Given the description of an element on the screen output the (x, y) to click on. 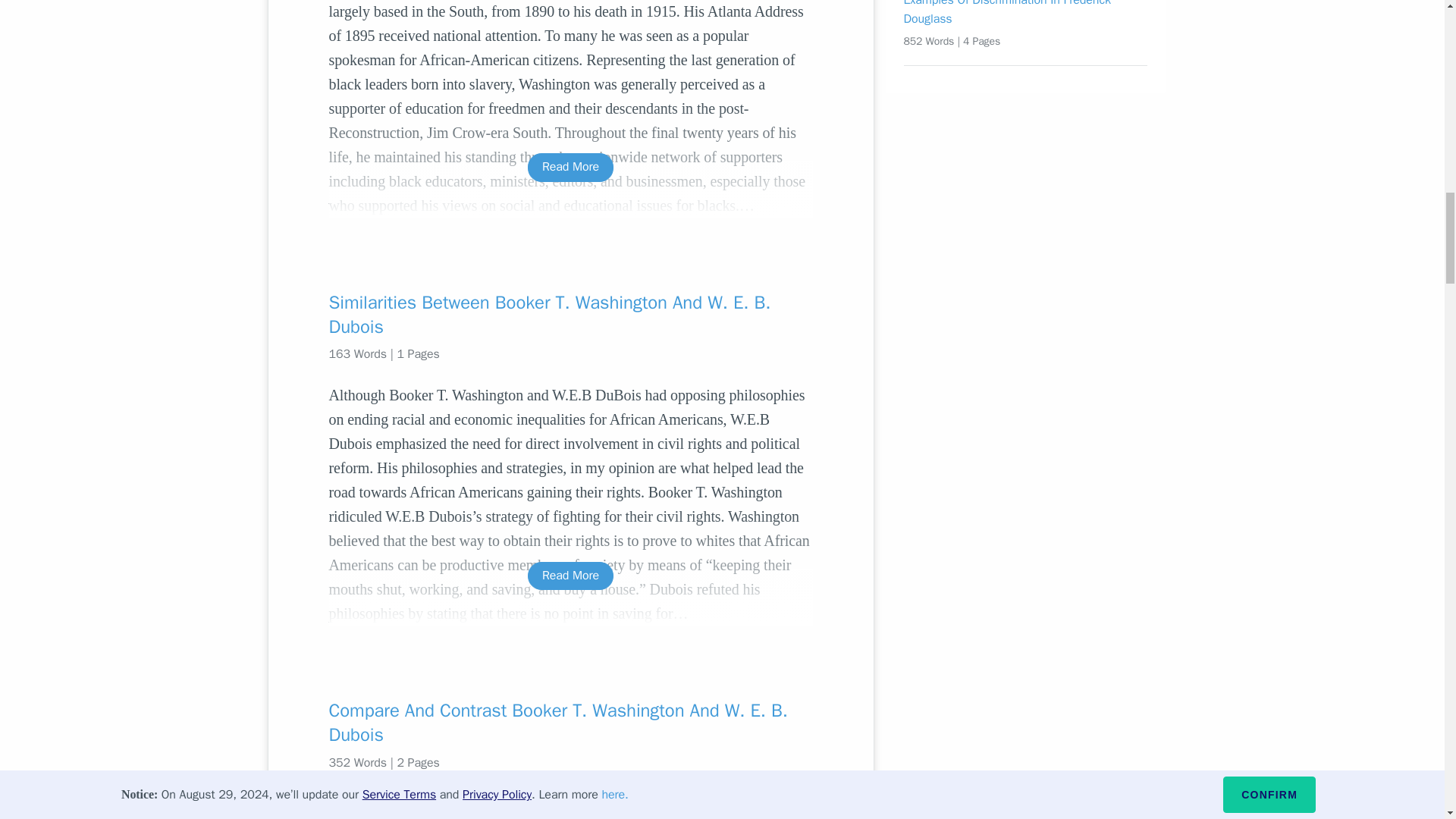
Read More (569, 575)
Read More (569, 166)
